Given the description of an element on the screen output the (x, y) to click on. 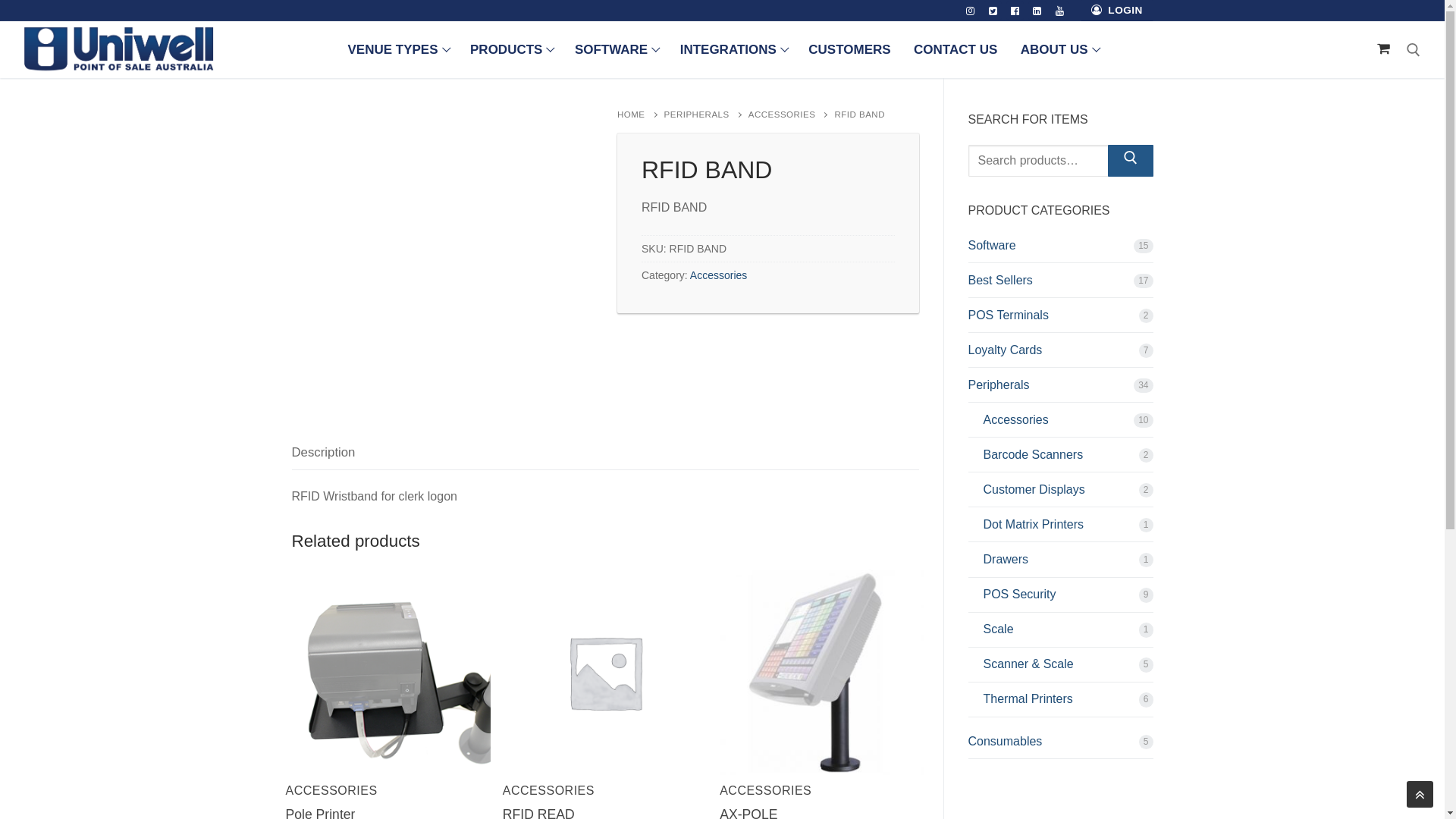
Accessories Element type: text (718, 275)
Consumables Element type: text (1059, 745)
Scale Element type: text (1059, 632)
CUSTOMERS Element type: text (849, 49)
POS Terminals Element type: text (1059, 318)
Drawers Element type: text (1059, 563)
LinkedIn Element type: hover (1036, 10)
Youtube Element type: hover (1059, 10)
INTEGRATIONS
  Element type: text (732, 49)
VENUE TYPES
  Element type: text (397, 49)
POS Security Element type: text (1059, 597)
SOFTWARE
  Element type: text (615, 49)
Twitter Element type: hover (992, 10)
PRODUCTS
  Element type: text (510, 49)
Facebook Element type: hover (1014, 10)
Accessories Element type: text (1059, 423)
Scanner & Scale Element type: text (1059, 667)
Customer Displays Element type: text (1059, 493)
Software Element type: text (1059, 248)
Description Element type: text (322, 452)
PERIPHERALS Element type: text (706, 114)
Thermal Printers Element type: text (1059, 702)
Instagram Element type: hover (970, 10)
Dot Matrix Printers Element type: text (1059, 528)
Barcode Scanners Element type: text (1059, 458)
ACCESSORIES Element type: text (791, 114)
Best Sellers Element type: text (1059, 284)
HOME Element type: text (640, 114)
ACCESSORIES Element type: text (765, 790)
ACCESSORIES Element type: text (330, 790)
CONTACT US Element type: text (955, 49)
ACCESSORIES Element type: text (548, 790)
LOGIN Element type: text (1116, 10)
Peripherals Element type: text (1059, 388)
Loyalty Cards Element type: text (1059, 353)
ABOUT US
  Element type: text (1058, 49)
Search Element type: text (1130, 160)
